Given the description of an element on the screen output the (x, y) to click on. 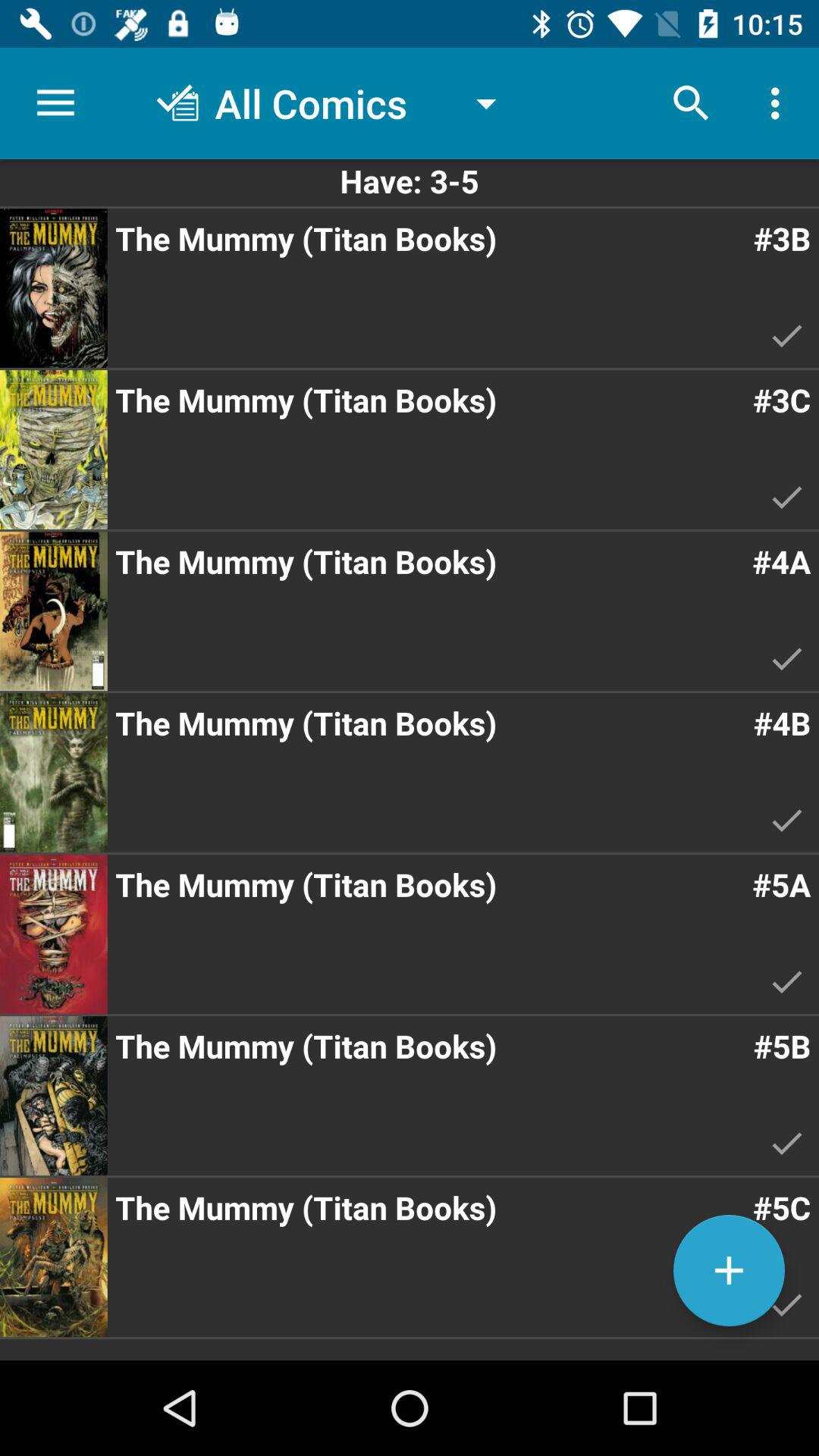
click on three dot icon in top right corner (779, 103)
click the tick mark on the bottom right corner (787, 1304)
go to tick mark below the text 5b (787, 1142)
